Given the description of an element on the screen output the (x, y) to click on. 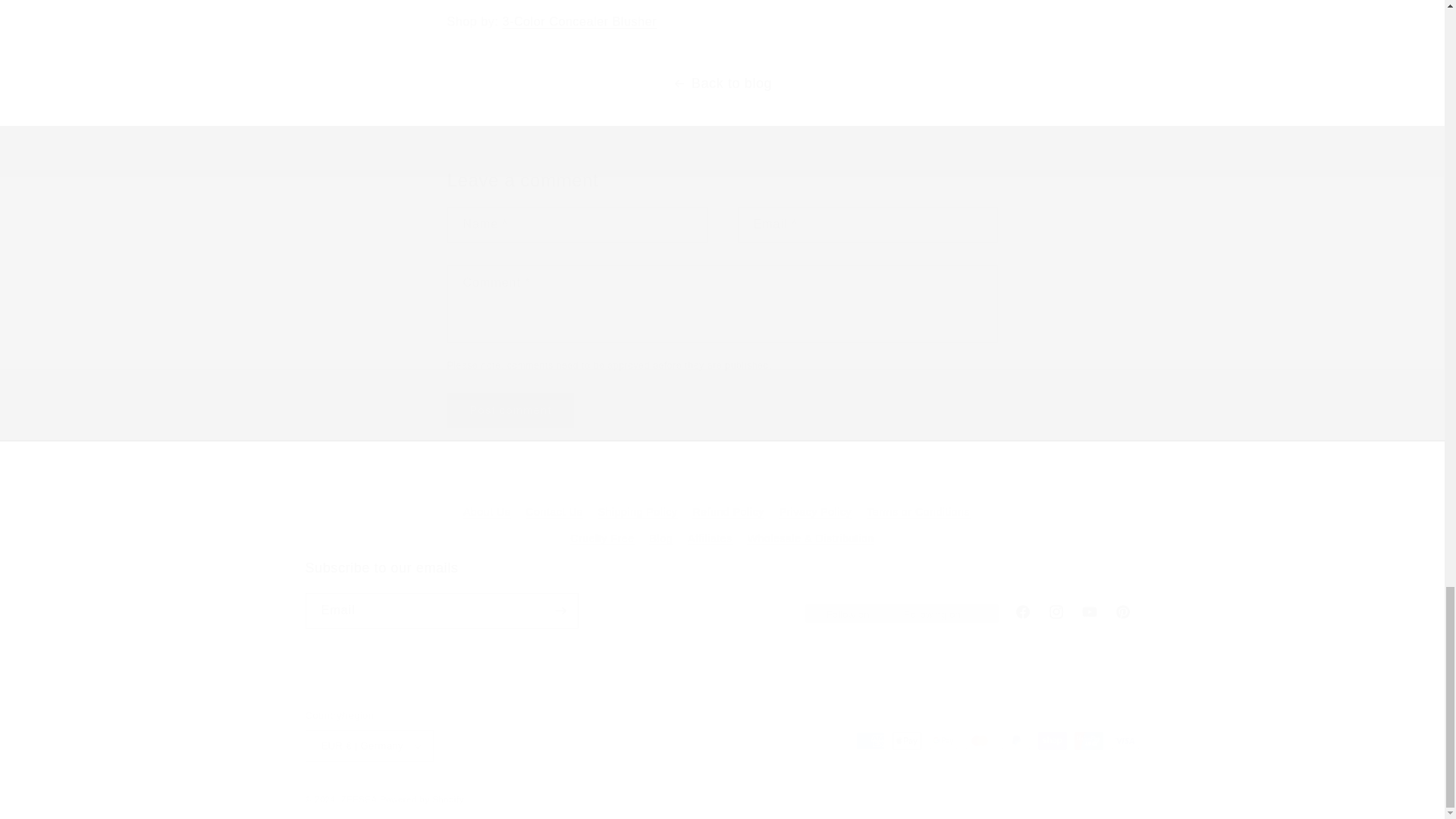
Post comment (510, 410)
